Given the description of an element on the screen output the (x, y) to click on. 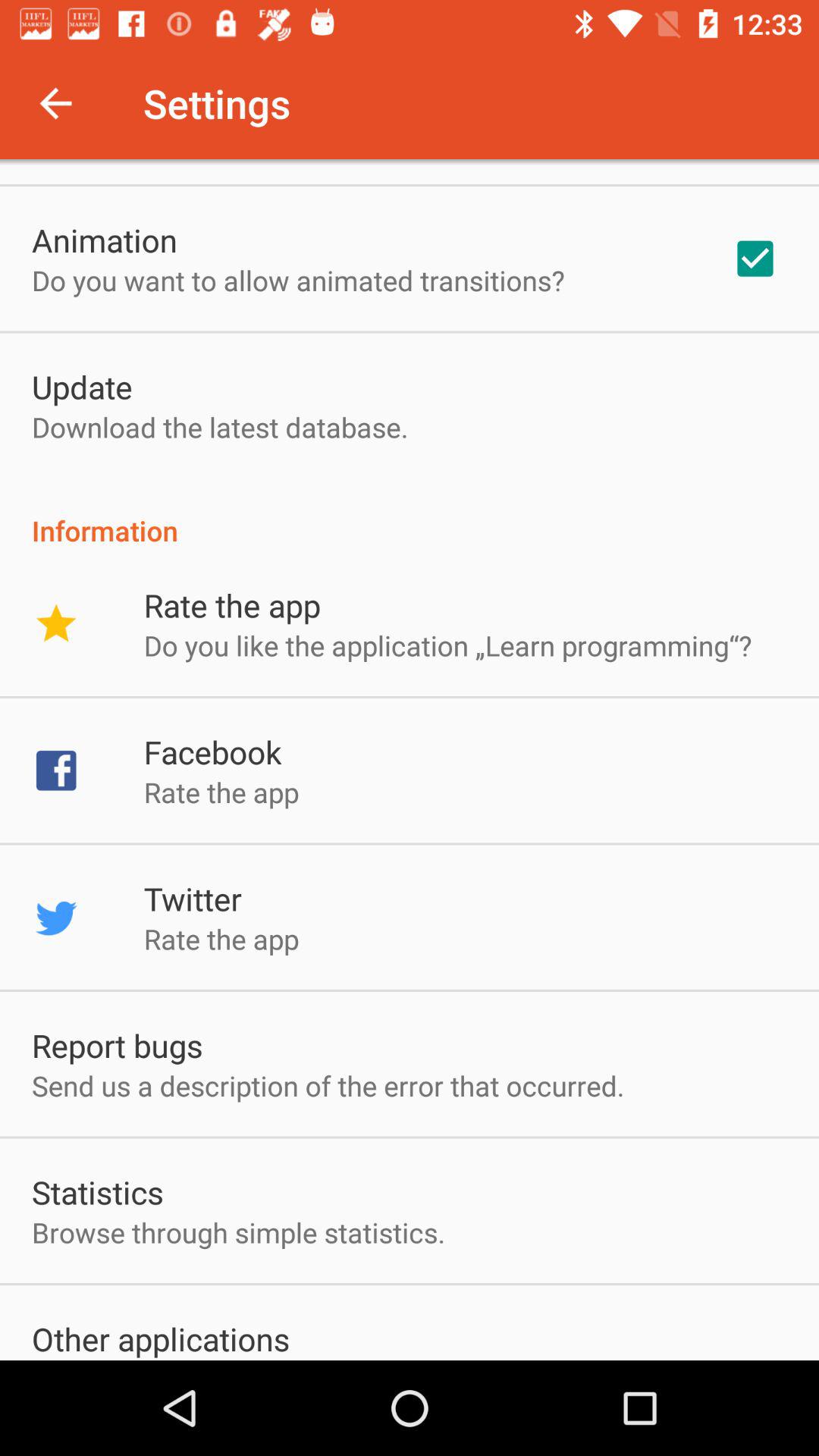
flip until report bugs (117, 1044)
